Given the description of an element on the screen output the (x, y) to click on. 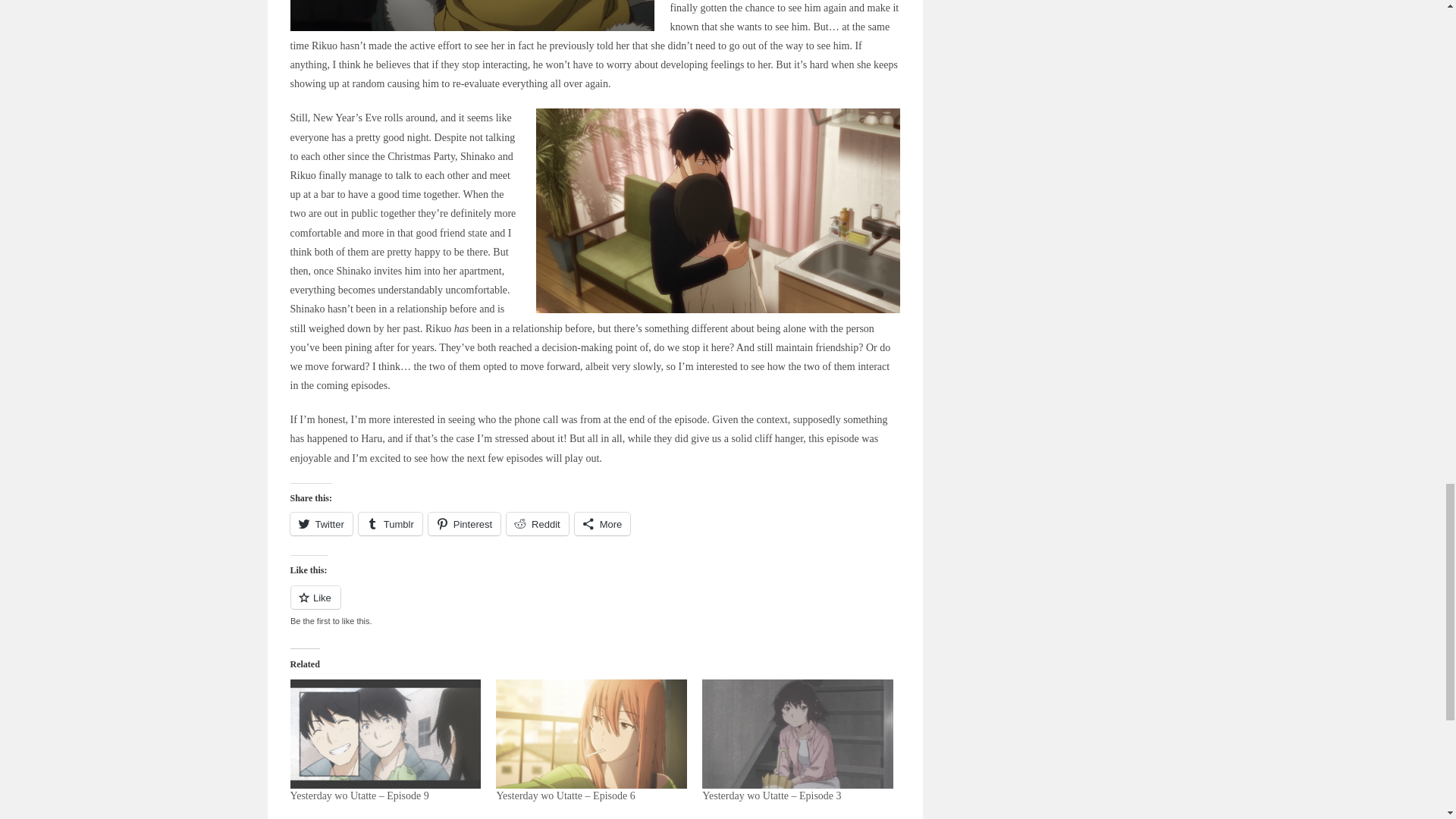
Click to share on Twitter (320, 523)
Click to share on Tumblr (390, 523)
Click to share on Reddit (537, 523)
Click to share on Pinterest (464, 523)
Like or Reblog (594, 606)
